Given the description of an element on the screen output the (x, y) to click on. 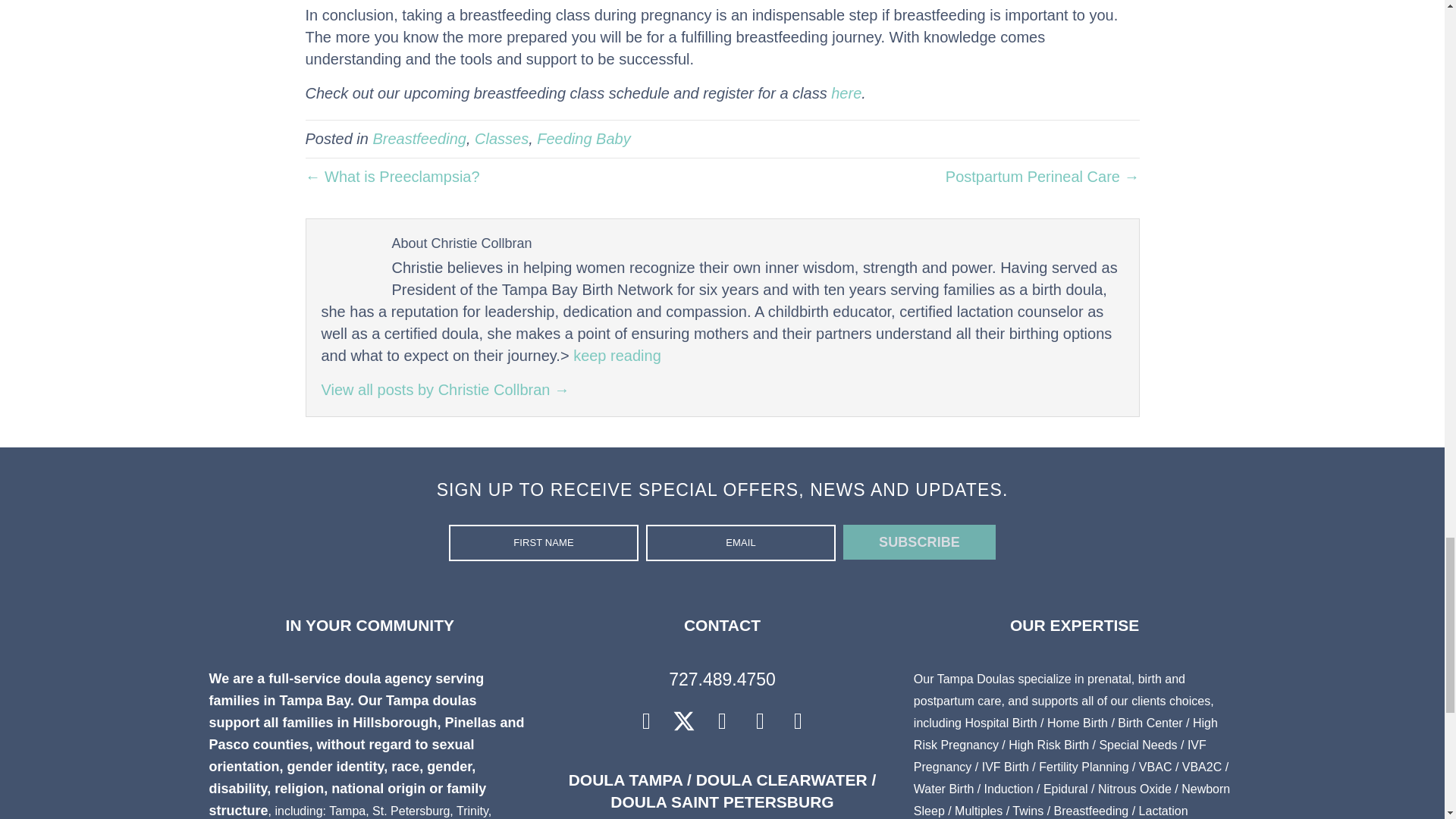
Pinterest (759, 721)
Facebook (645, 721)
Instagram (721, 721)
